Given the description of an element on the screen output the (x, y) to click on. 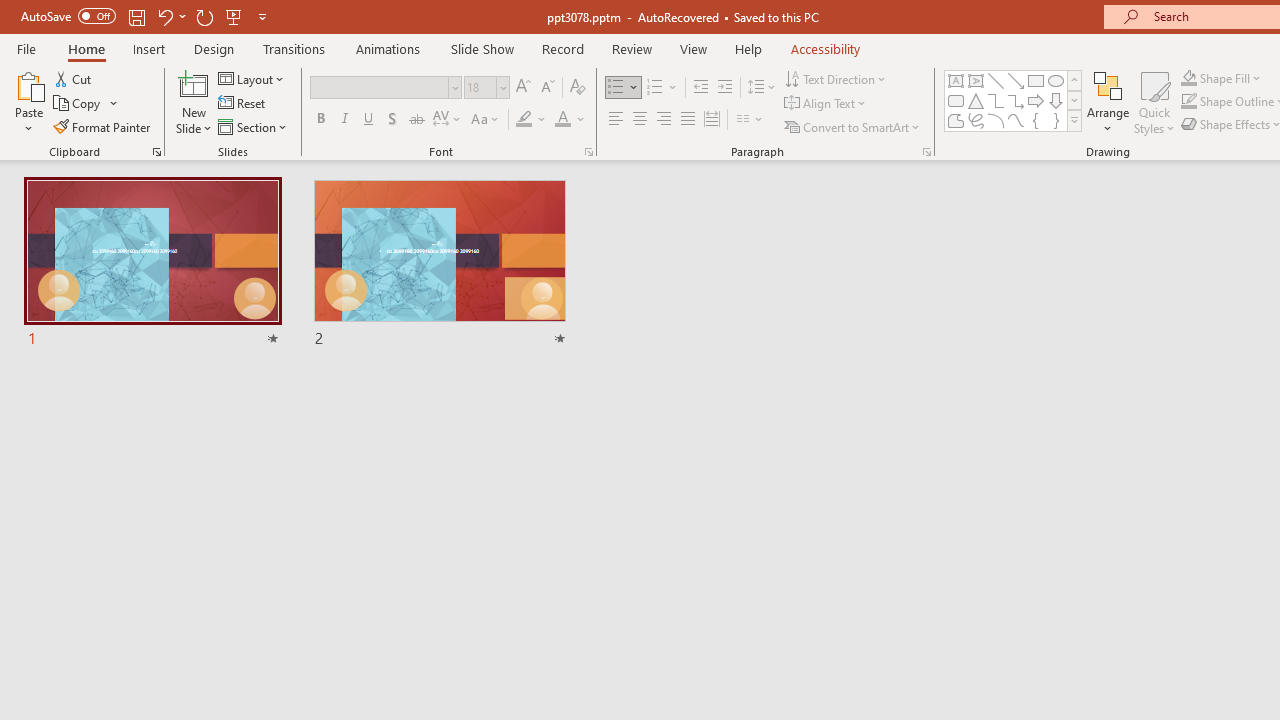
Text Direction (836, 78)
Font... (588, 151)
Character Spacing (447, 119)
Cut (73, 78)
Vertical Text Box (975, 80)
Decrease Indent (700, 87)
Increase Indent (725, 87)
Convert to SmartArt (853, 126)
Rectangle (1035, 80)
